Given the description of an element on the screen output the (x, y) to click on. 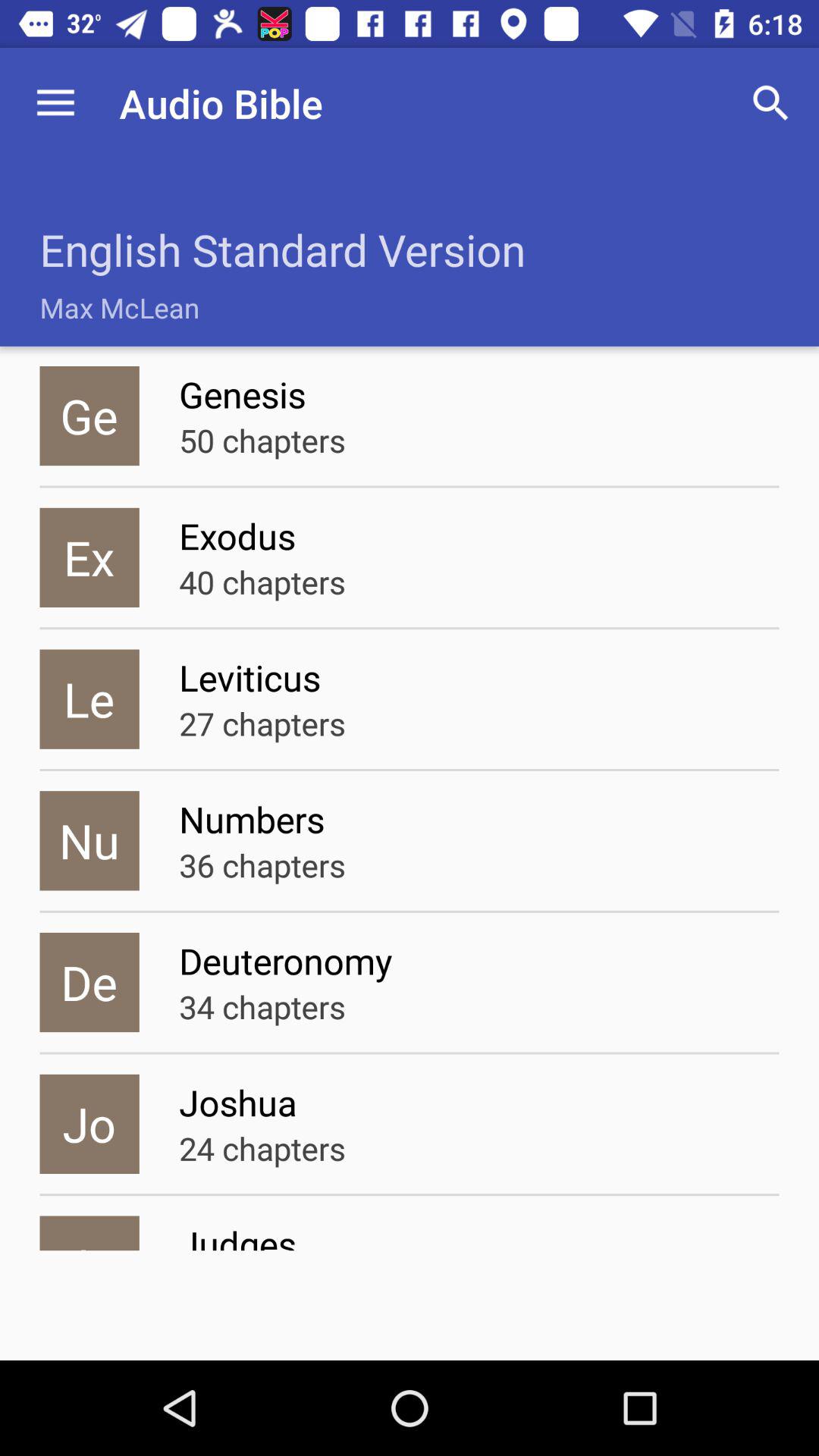
turn off the item above english standard version icon (55, 103)
